Given the description of an element on the screen output the (x, y) to click on. 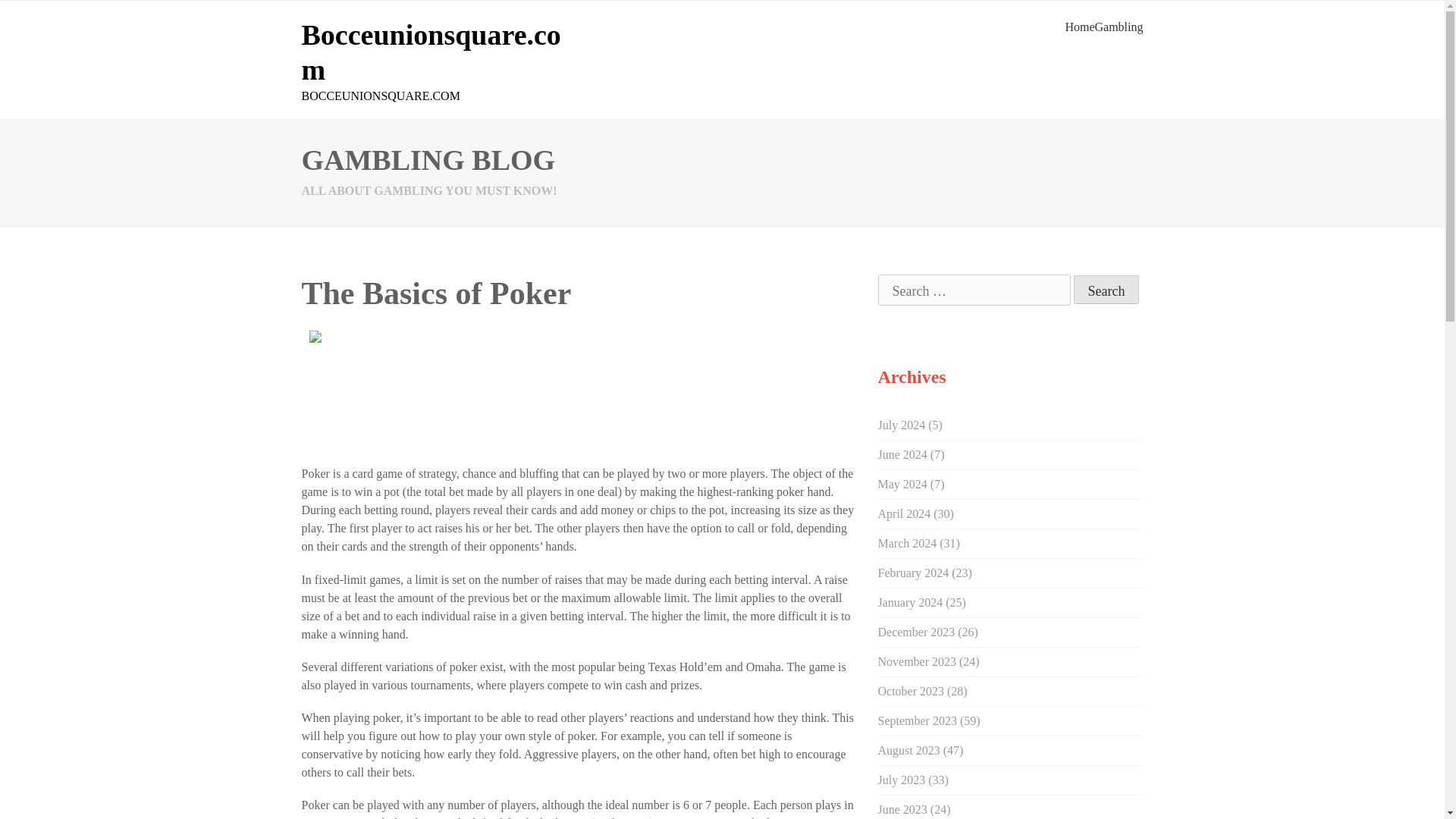
Search (1107, 289)
March 2024 (907, 543)
June 2023 (902, 809)
June 2024 (902, 454)
August 2023 (908, 749)
April 2024 (904, 513)
February 2024 (913, 572)
July 2024 (901, 424)
November 2023 (916, 661)
Bocceunionsquare.com (430, 51)
October 2023 (910, 690)
Home (1079, 27)
Search (1107, 289)
January 2024 (910, 602)
